Given the description of an element on the screen output the (x, y) to click on. 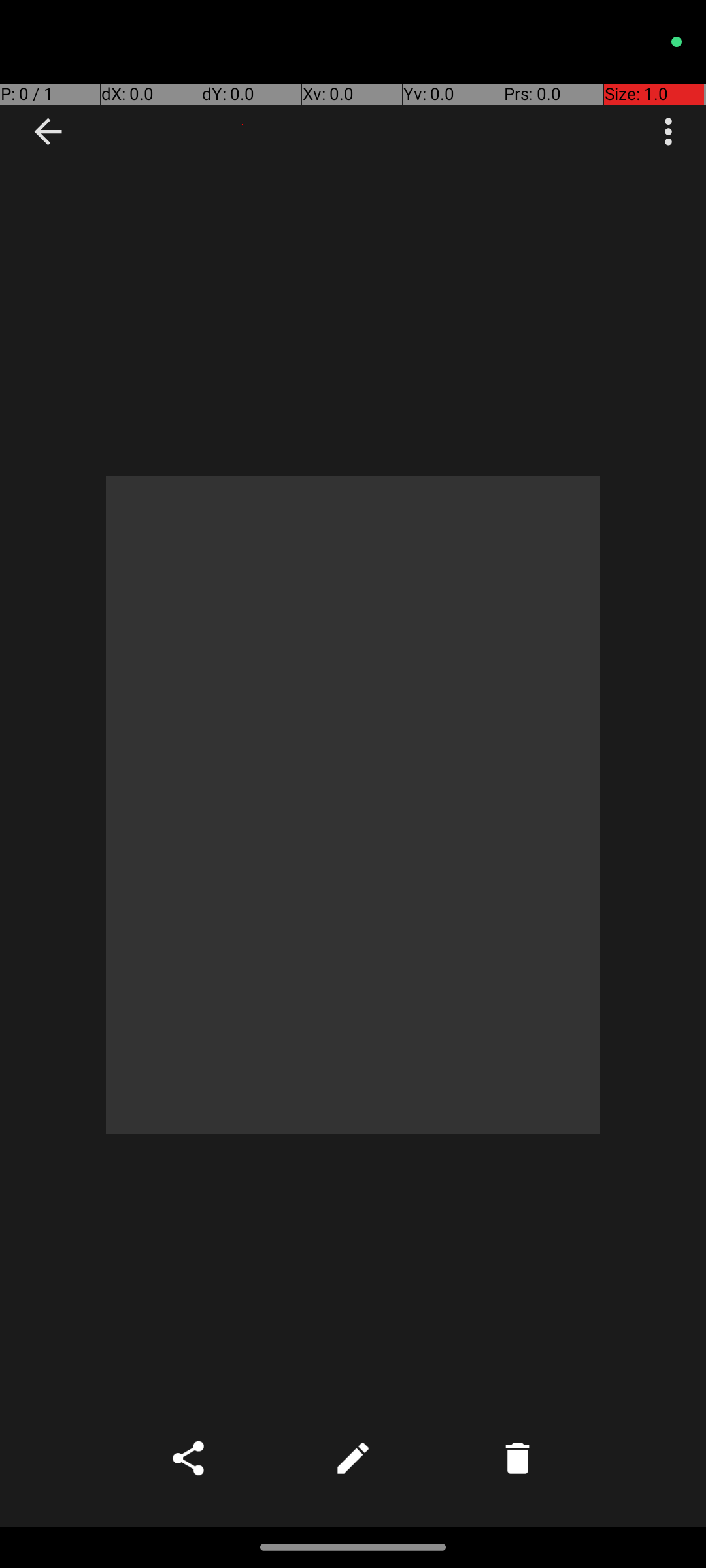
Edit Element type: android.widget.ImageButton (352, 1458)
Delete Element type: android.widget.ImageButton (517, 1458)
Navigate up Element type: android.widget.ImageButton (48, 131)
Photo taken on Oct 15, 2023 15:34:17 Element type: android.widget.ImageView (352, 804)
